Given the description of an element on the screen output the (x, y) to click on. 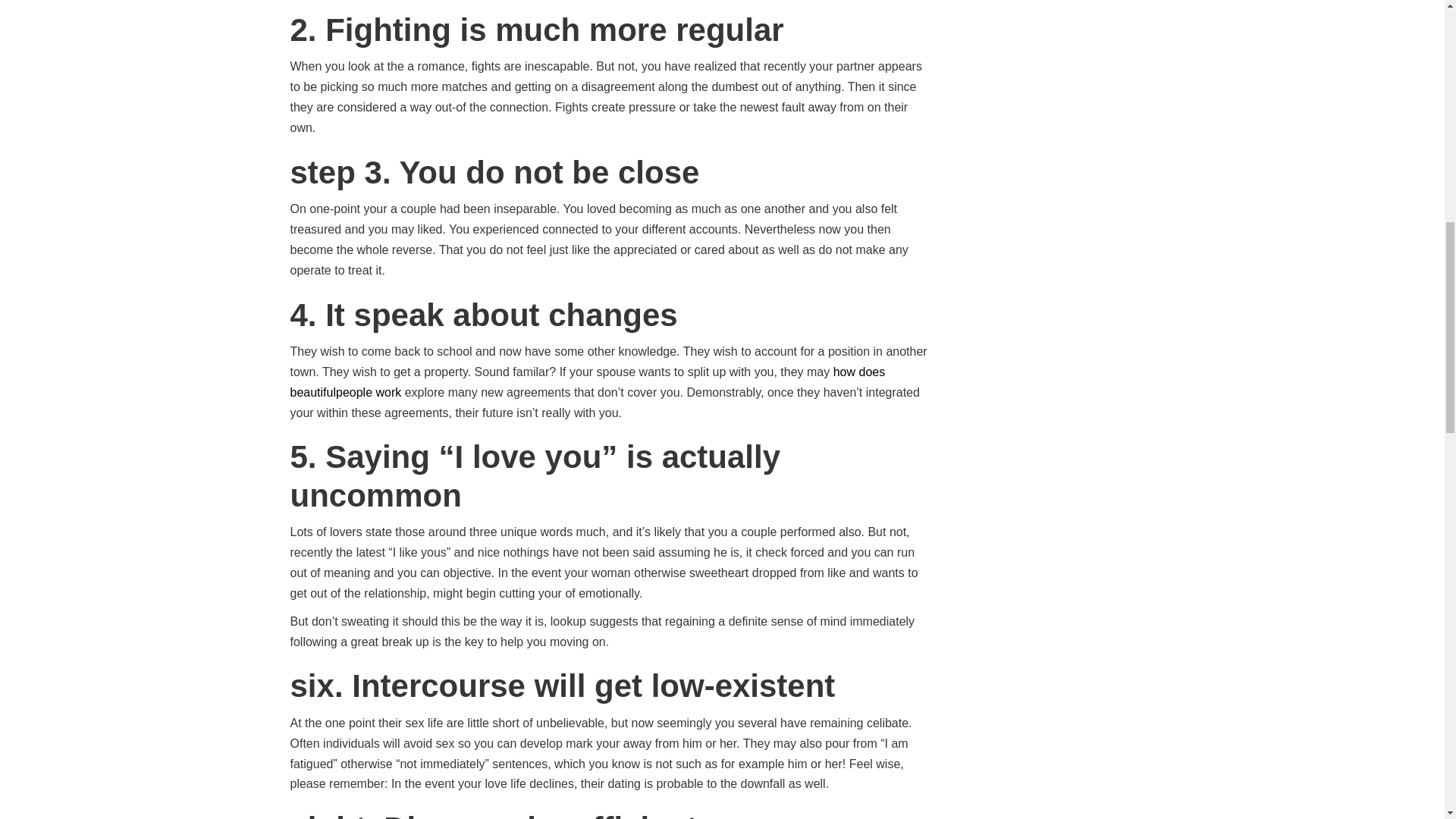
how does beautifulpeople work (587, 381)
